Given the description of an element on the screen output the (x, y) to click on. 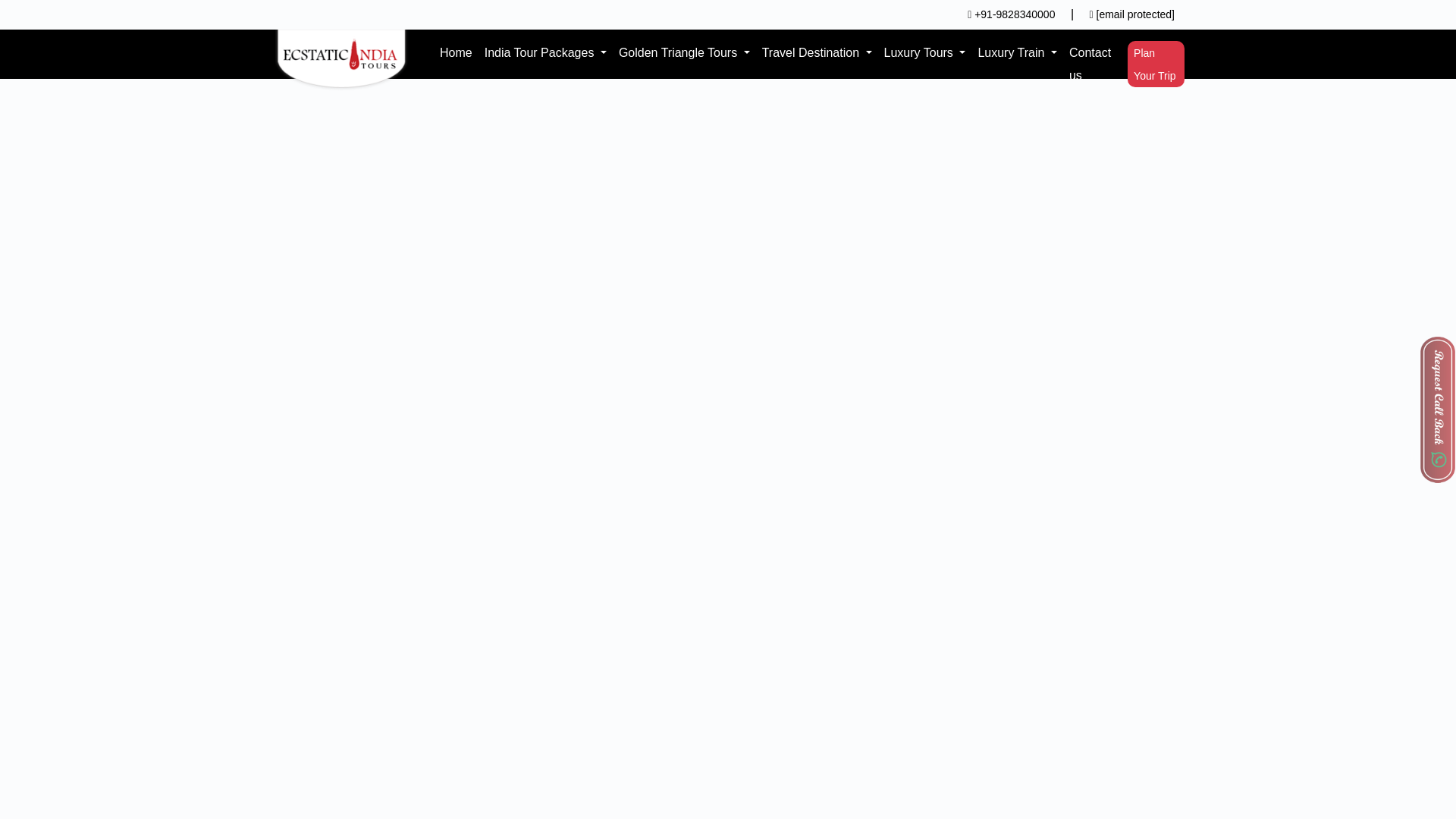
Golden Triangle Tours (683, 53)
India Tour Packages (545, 53)
Luxury Tours (924, 53)
Home (456, 53)
Luxury Train (1016, 53)
Travel Destination (816, 53)
